Given the description of an element on the screen output the (x, y) to click on. 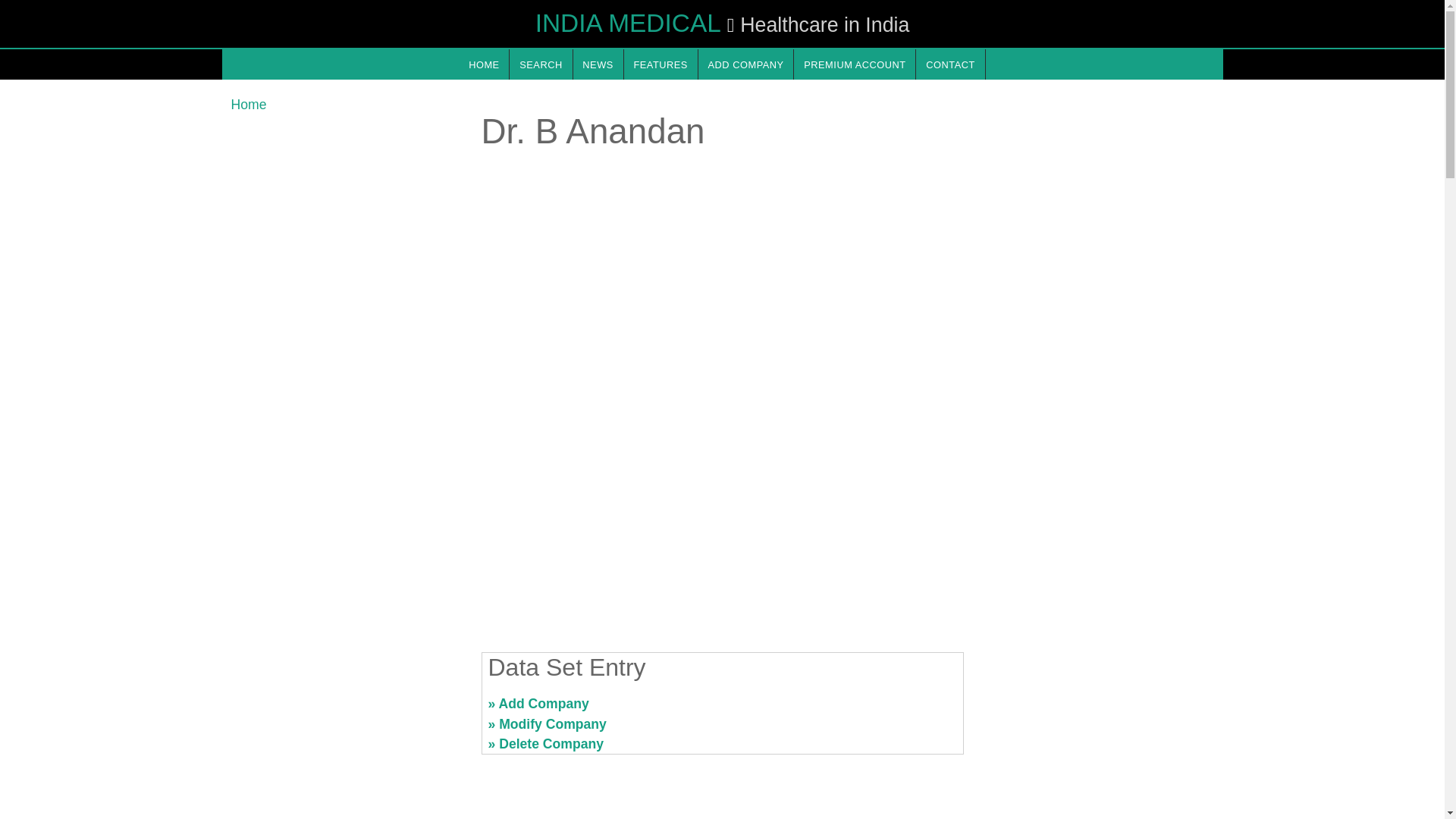
Add a new company (745, 64)
HOME (483, 64)
ADD COMPANY (745, 64)
Advertisement (721, 522)
CONTACT (949, 64)
Search in this webseite. (540, 64)
Home (248, 104)
Advertisement (346, 710)
INDIA MEDICAL (627, 22)
PREMIUM ACCOUNT (854, 64)
SEARCH (540, 64)
Advertisement (1096, 710)
FEATURES (660, 64)
Premium account (854, 64)
